Given the description of an element on the screen output the (x, y) to click on. 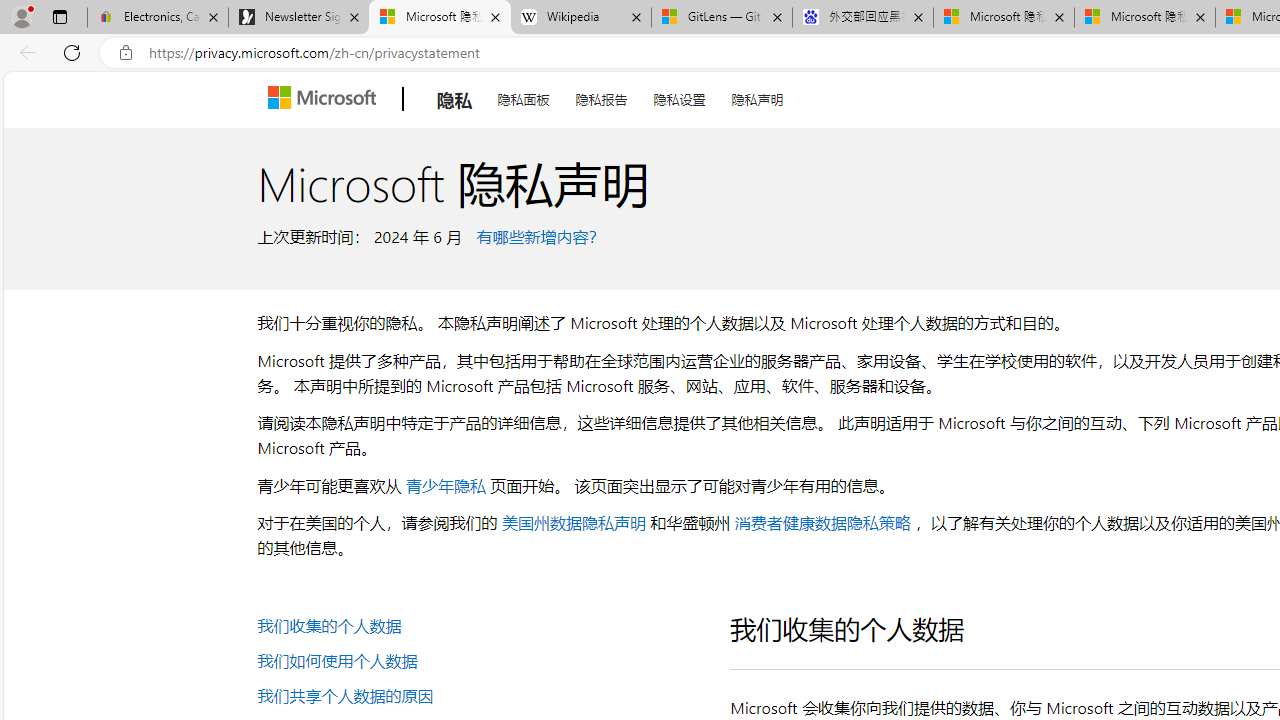
Newsletter Sign Up (298, 17)
